Given the description of an element on the screen output the (x, y) to click on. 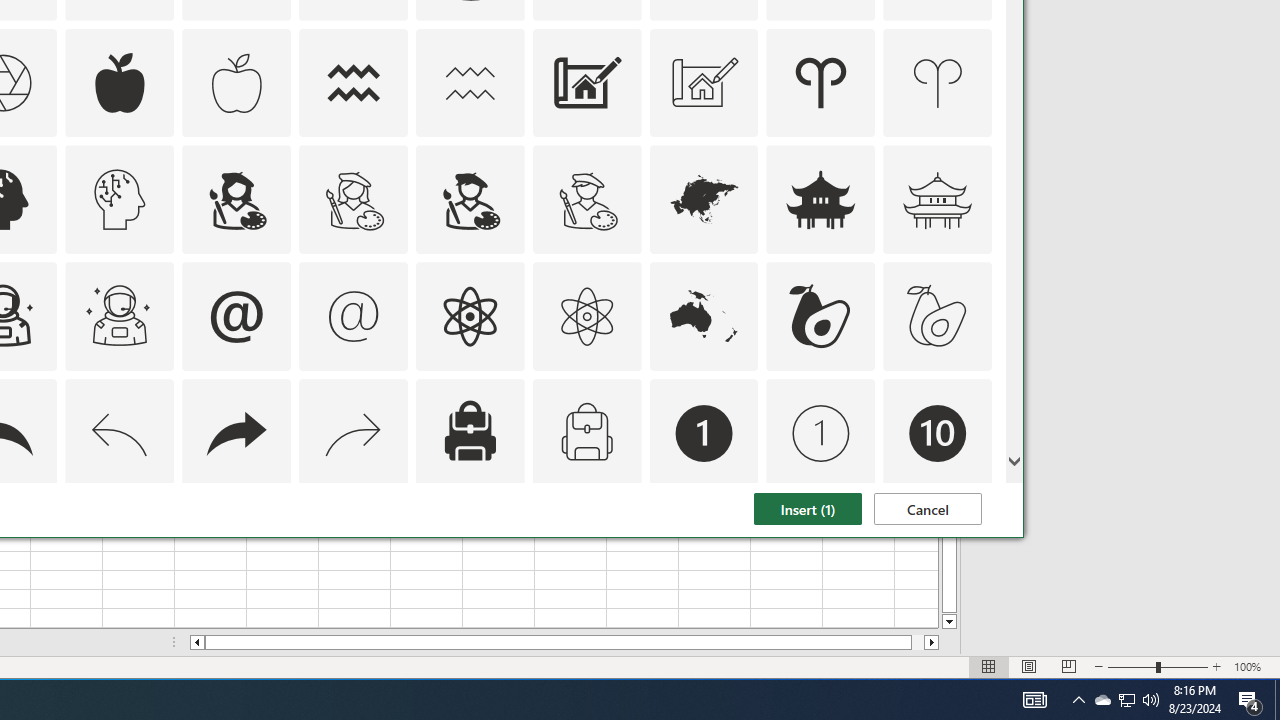
AutomationID: Icons_Backpack_M (586, 434)
AutomationID: Icons_Badge6 (120, 550)
AutomationID: Icons_Apple_M (236, 82)
Q2790: 100% (1151, 699)
AutomationID: 4105 (1034, 699)
AutomationID: Icons_Architecture (586, 82)
AutomationID: Icons_Avocado (820, 316)
AutomationID: Icons_Badge6_M (236, 550)
AutomationID: Icons_AsianTemple_M (938, 200)
AutomationID: Icons_Aries (820, 82)
